Given the description of an element on the screen output the (x, y) to click on. 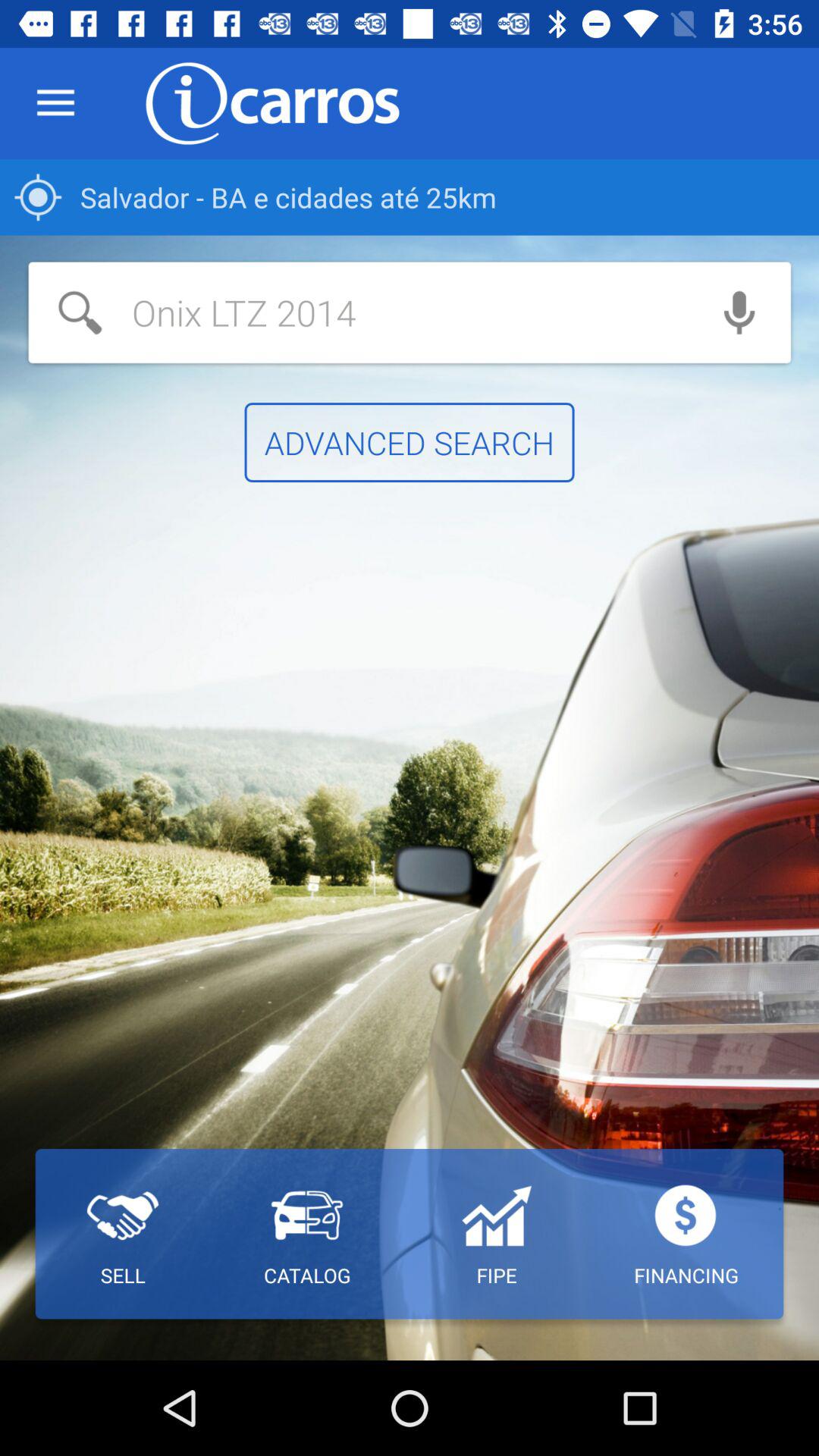
tap the item at the bottom left corner (122, 1233)
